Given the description of an element on the screen output the (x, y) to click on. 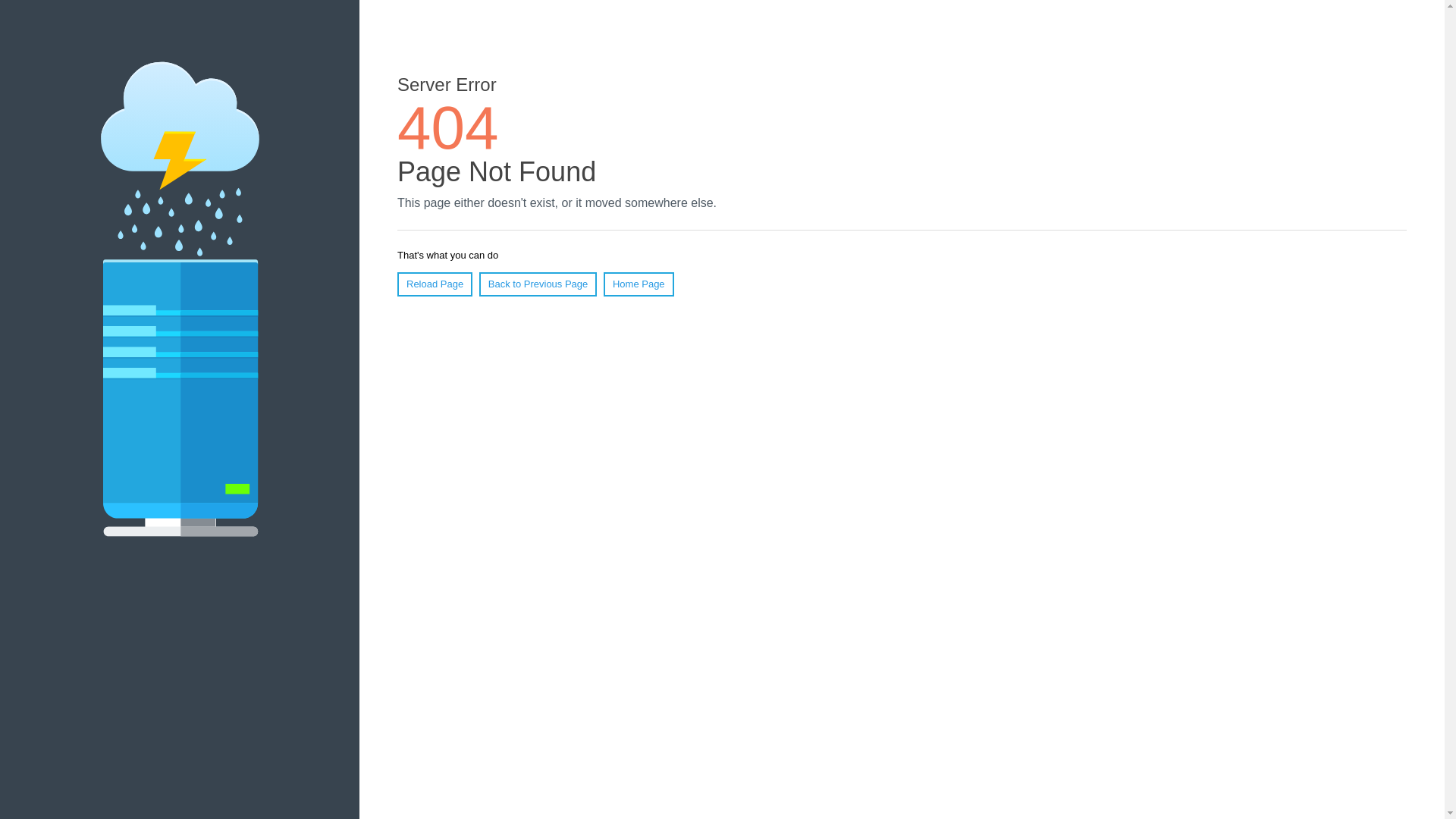
Reload Page Element type: text (434, 284)
Back to Previous Page Element type: text (538, 284)
Home Page Element type: text (638, 284)
